Given the description of an element on the screen output the (x, y) to click on. 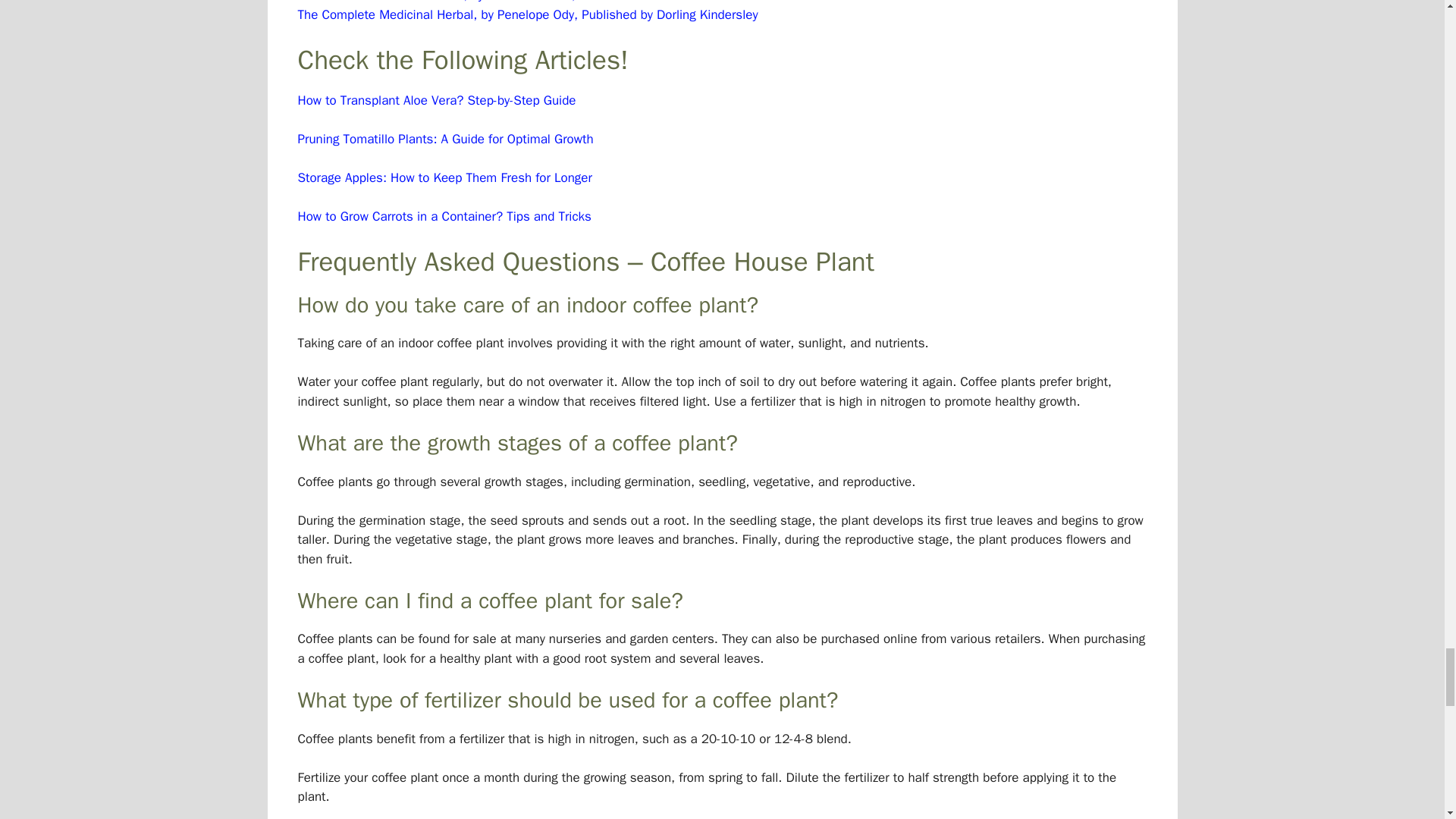
How to Grow Carrots in a Container? Tips and Tricks (444, 216)
Pruning Tomatillo Plants: A Guide for Optimal Growth (444, 139)
How to Transplant Aloe Vera? Step-by-Step Guide (436, 100)
Storage Apples: How to Keep Them Fresh for Longer (444, 177)
